Given the description of an element on the screen output the (x, y) to click on. 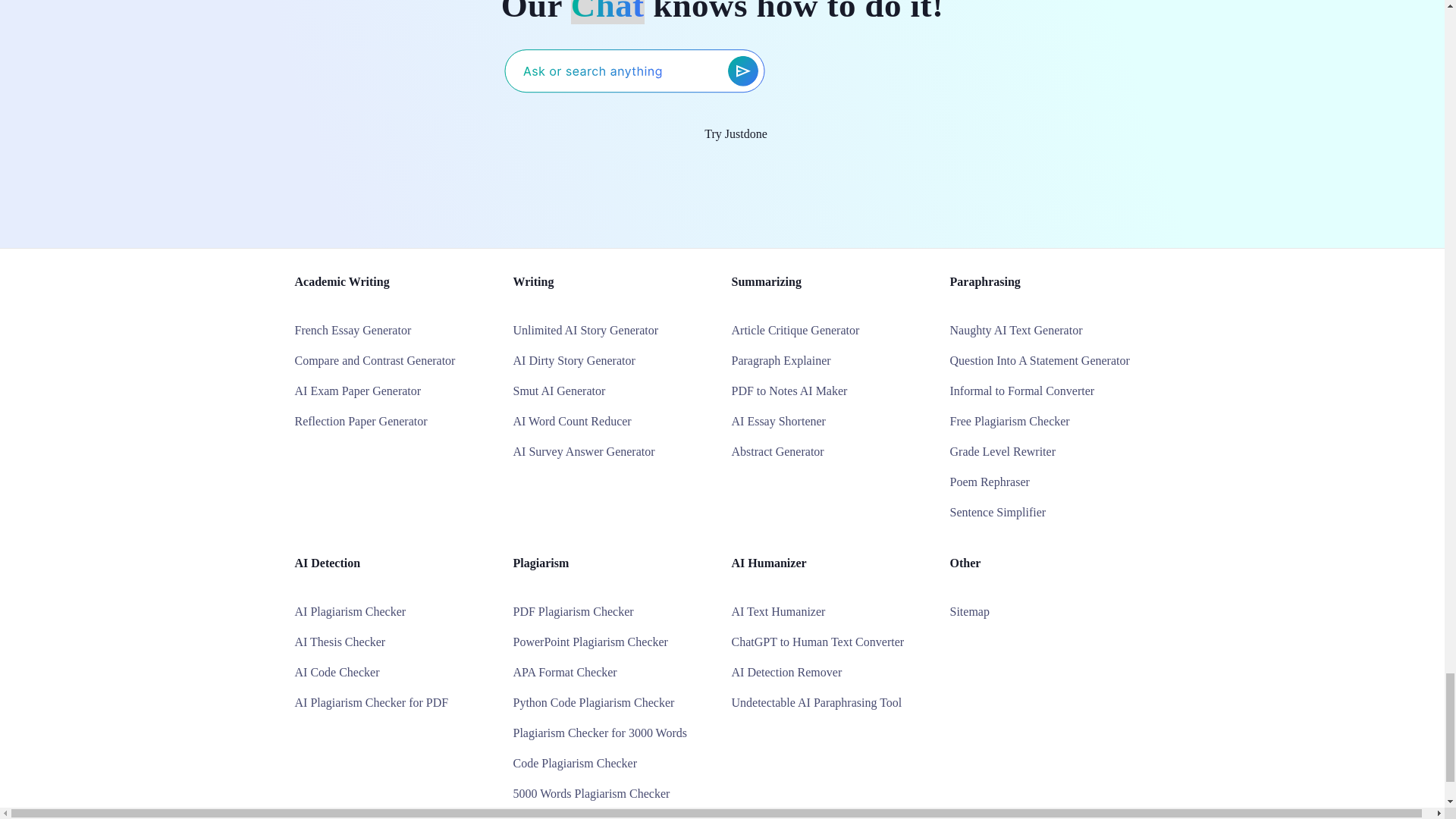
Informal to Formal Converter (1021, 390)
Try Justdone (721, 133)
Academic Writing (341, 281)
Writing (532, 281)
Poem Rephraser (989, 481)
AI Word Count Reducer (571, 420)
Unlimited AI Story Generator (585, 329)
Article Critique Generator (794, 329)
AI Essay Shortener (777, 420)
Abstract Generator (777, 451)
French Essay Generator (352, 329)
Paraphrasing (984, 281)
Grade Level Rewriter (1001, 451)
AI Plagiarism Checker (350, 611)
Sentence Simplifier (997, 512)
